Given the description of an element on the screen output the (x, y) to click on. 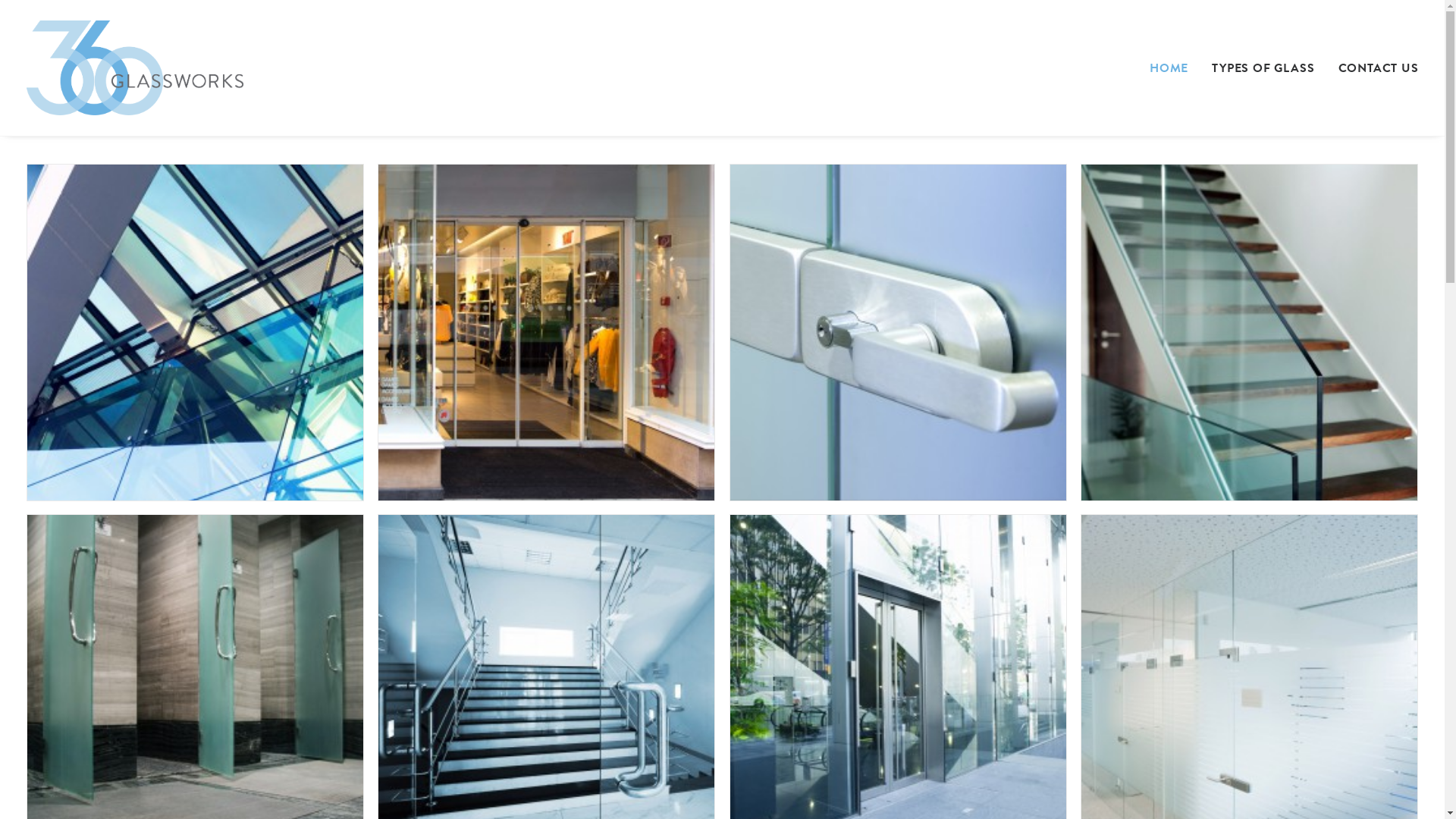
TYPES OF GLASS Element type: text (1262, 67)
CONTACT US Element type: text (1372, 67)
HOME Element type: text (1173, 67)
